Given the description of an element on the screen output the (x, y) to click on. 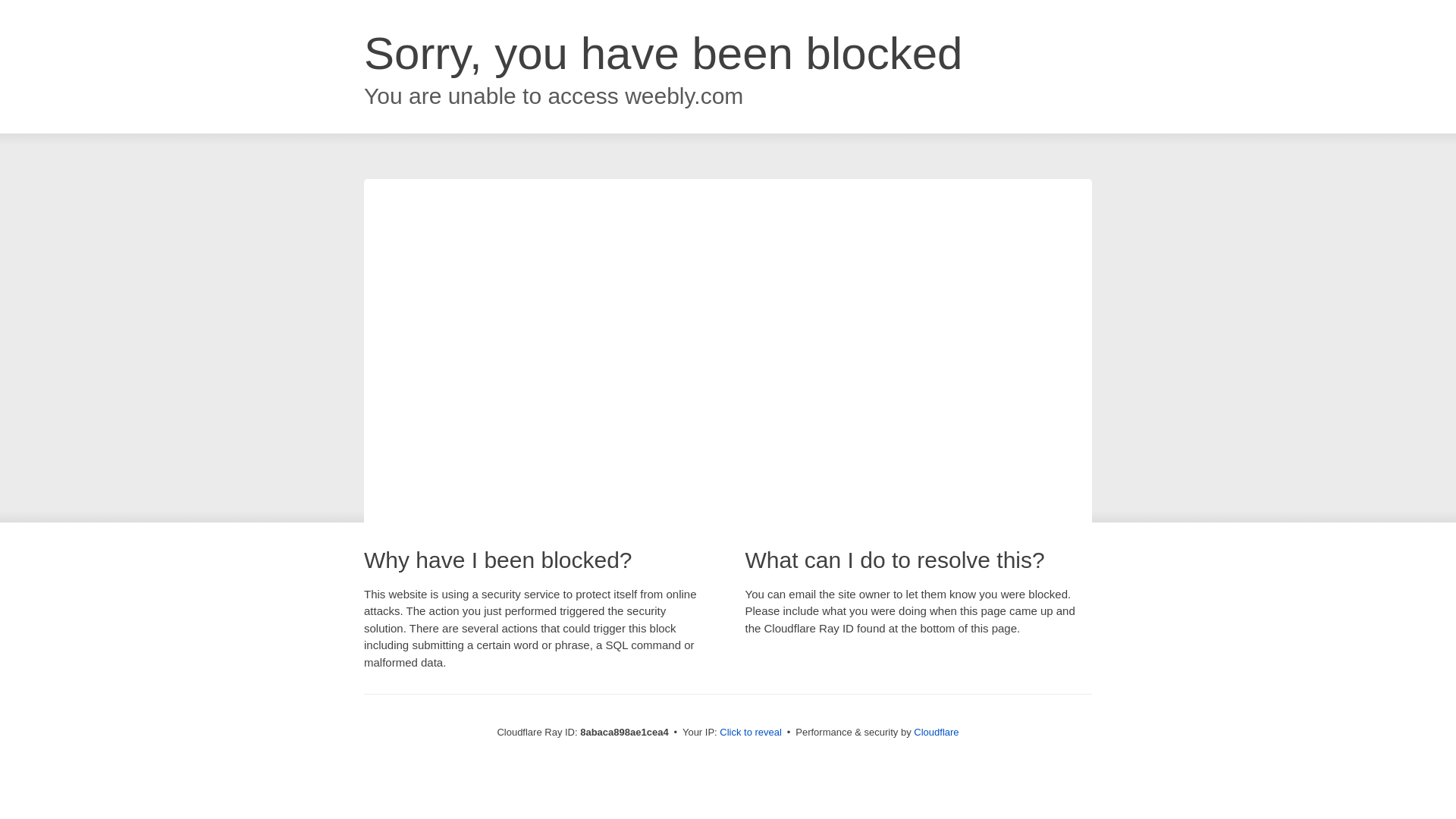
Cloudflare (936, 731)
Click to reveal (750, 732)
